Given the description of an element on the screen output the (x, y) to click on. 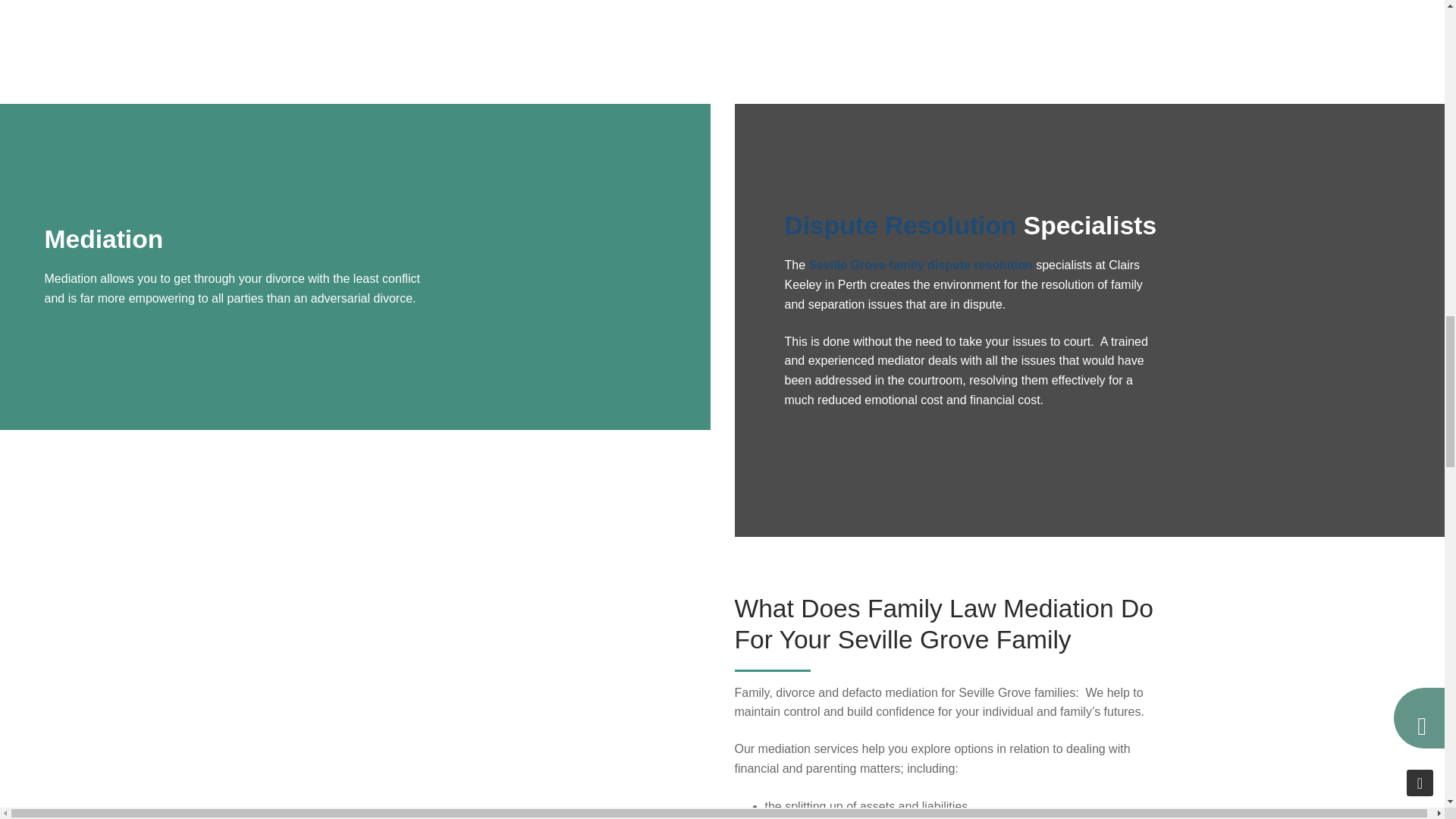
Dispute Resolution (900, 225)
Seville Grove family dispute resolution (920, 264)
